Given the description of an element on the screen output the (x, y) to click on. 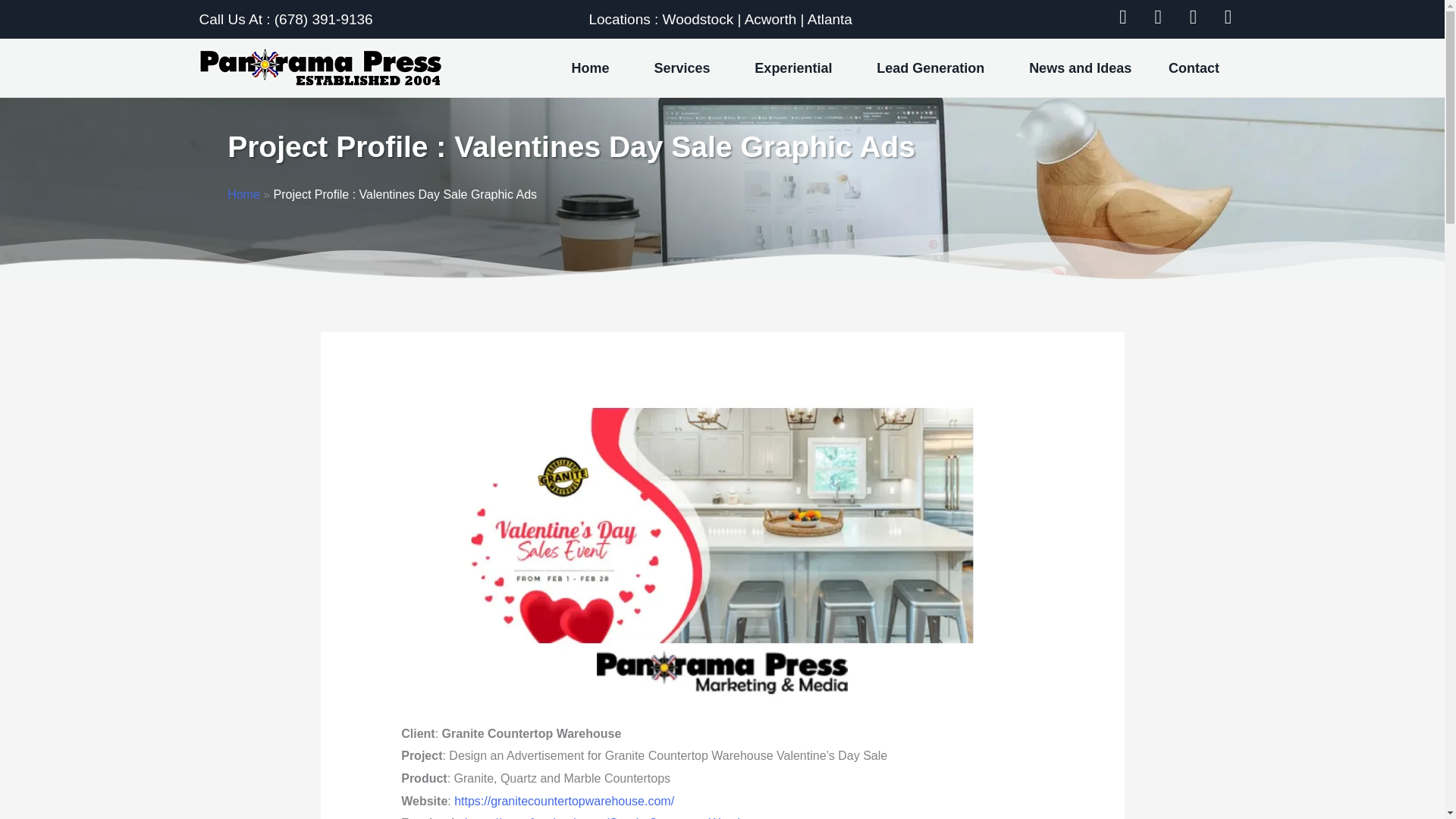
Instagram (1194, 19)
Woodstock (697, 19)
Services (685, 67)
Twitter (1160, 19)
Home (593, 67)
Linkedin (1229, 19)
Experiential (797, 67)
Lead Generation (934, 67)
Facebook (1125, 19)
Acworth (770, 19)
Atlanta (829, 19)
